Given the description of an element on the screen output the (x, y) to click on. 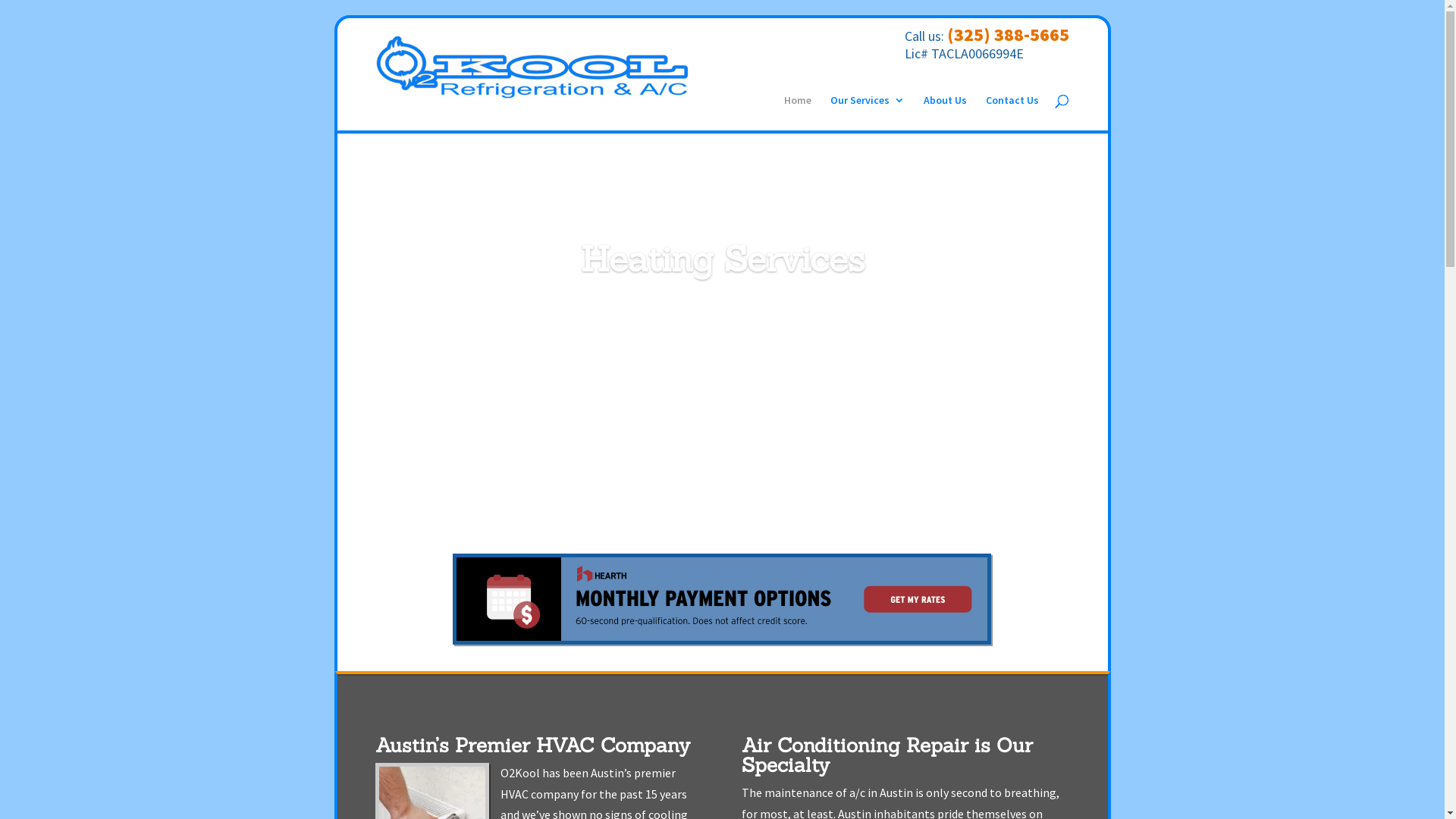
About Us Element type: text (944, 112)
Heating Services Element type: text (722, 258)
(325) 388-5665 Element type: text (1008, 34)
Learn More Element type: text (722, 318)
Our Services Element type: text (867, 112)
Contact Us Element type: text (1011, 112)
Home Element type: text (797, 112)
